Given the description of an element on the screen output the (x, y) to click on. 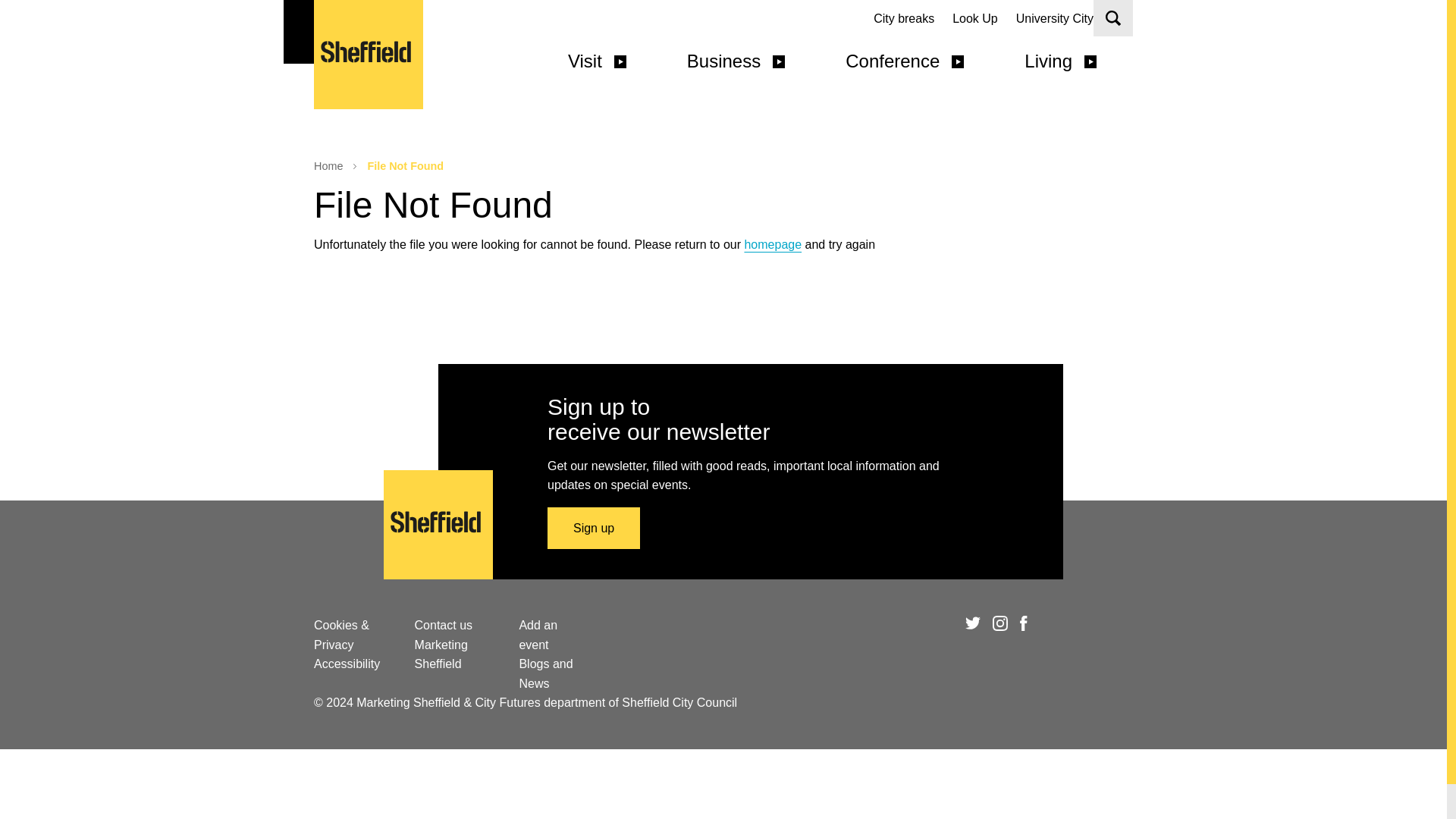
Home (773, 244)
Welcome To Sheffield Logo (368, 54)
